Given the description of an element on the screen output the (x, y) to click on. 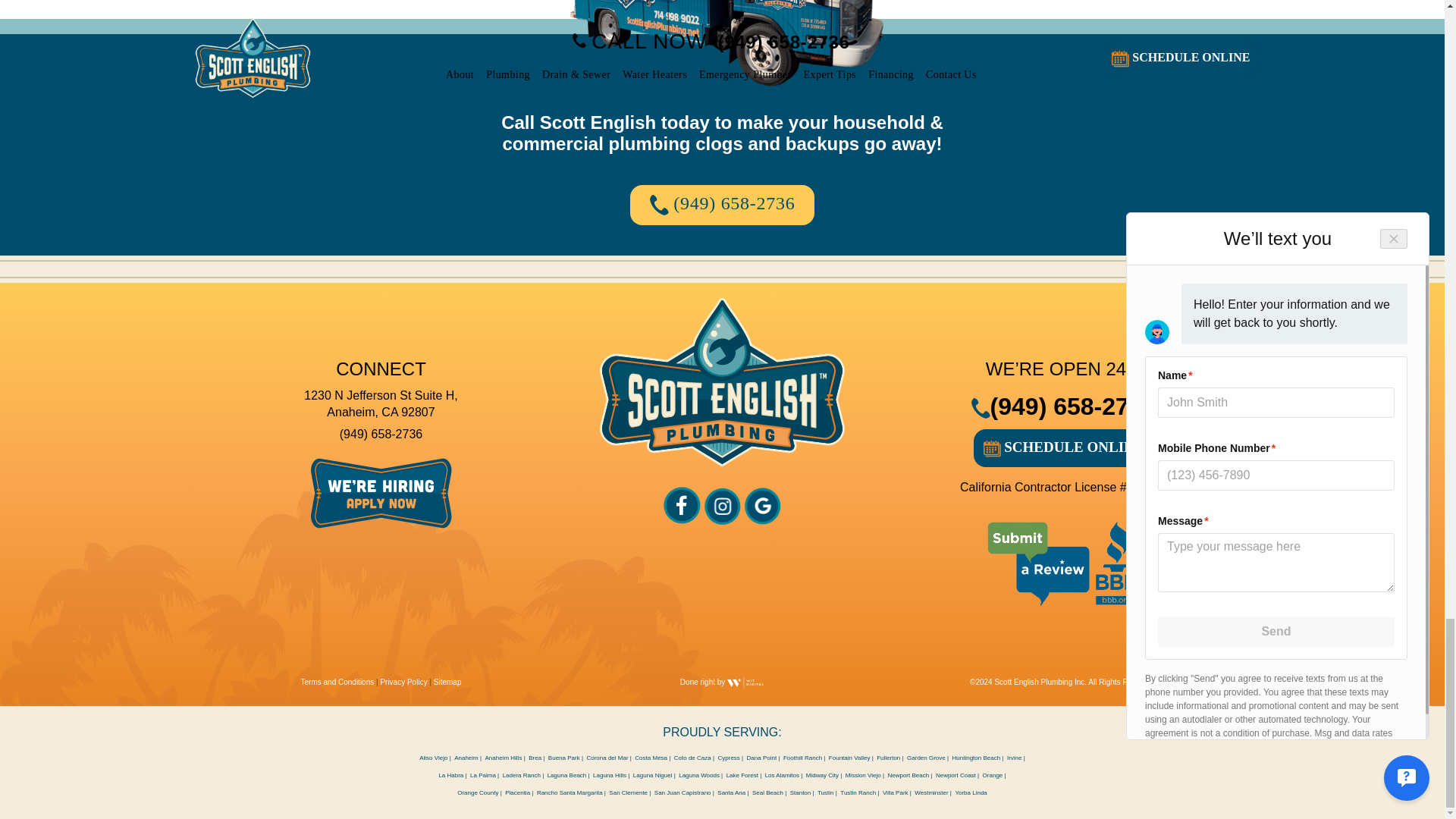
Plumber in Costa Mesa (650, 757)
Plumber in Corona del Mar (606, 757)
Plumber in Anaheim (466, 757)
Plumber in Anaheim Hills (503, 757)
Plumber in Buena Park (563, 757)
Plumber in Garden Grove (925, 757)
Plumber in Fountain Valley (849, 757)
Plumber in Foothill Ranch (802, 757)
Plumber in Coto de Caza (692, 757)
Plumber in Fullerton (887, 757)
Plumber in Dana Point (761, 757)
Plumber in Cypress (728, 757)
Plumber in Aliso Viejo (432, 757)
Plumber in Brea (534, 757)
